Given the description of an element on the screen output the (x, y) to click on. 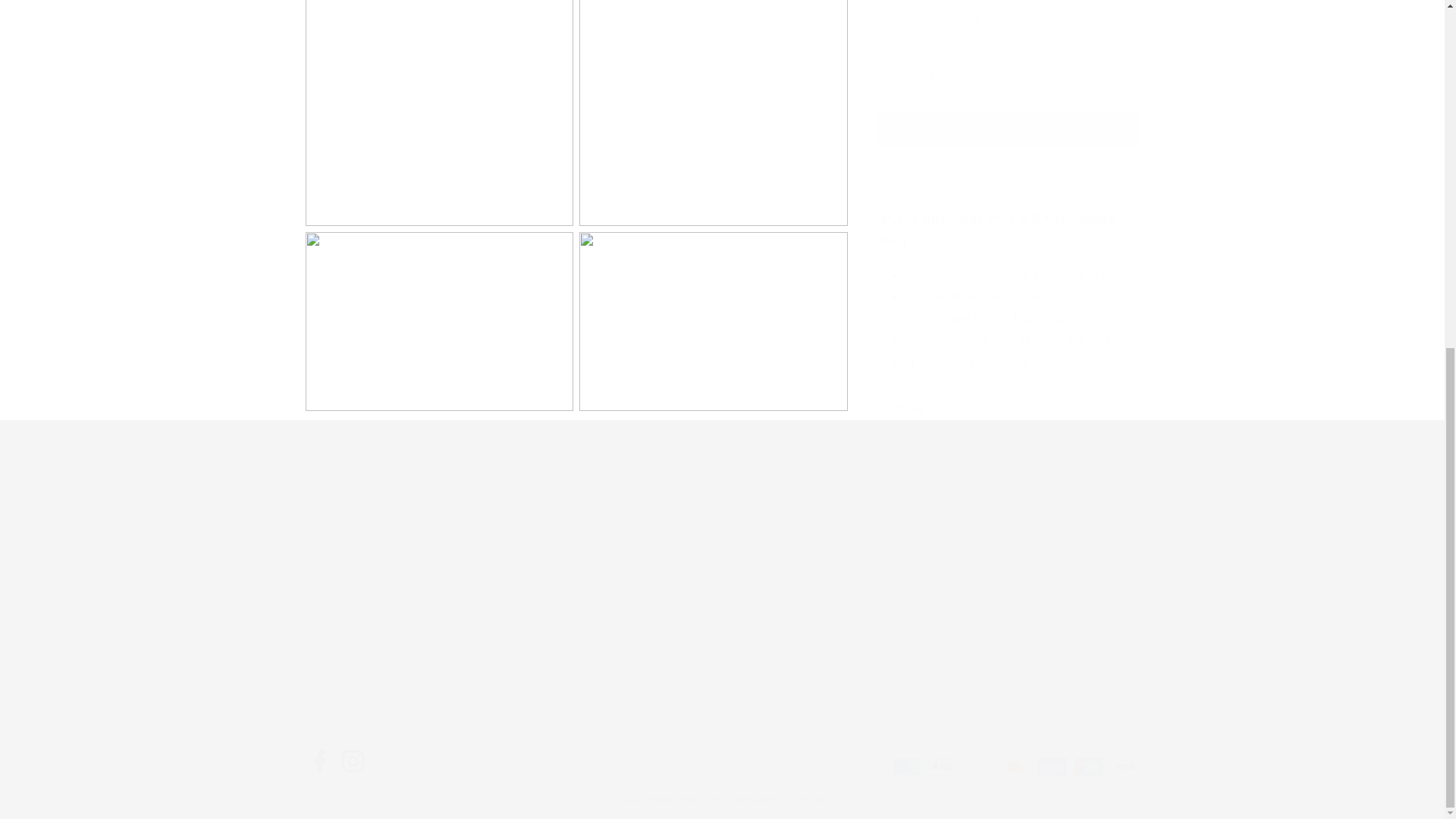
Open media 3 in modal (952, 586)
Open media 5 in modal (713, 105)
Open media 2 in modal (713, 306)
Open media 4 in modal (438, 105)
